Given the description of an element on the screen output the (x, y) to click on. 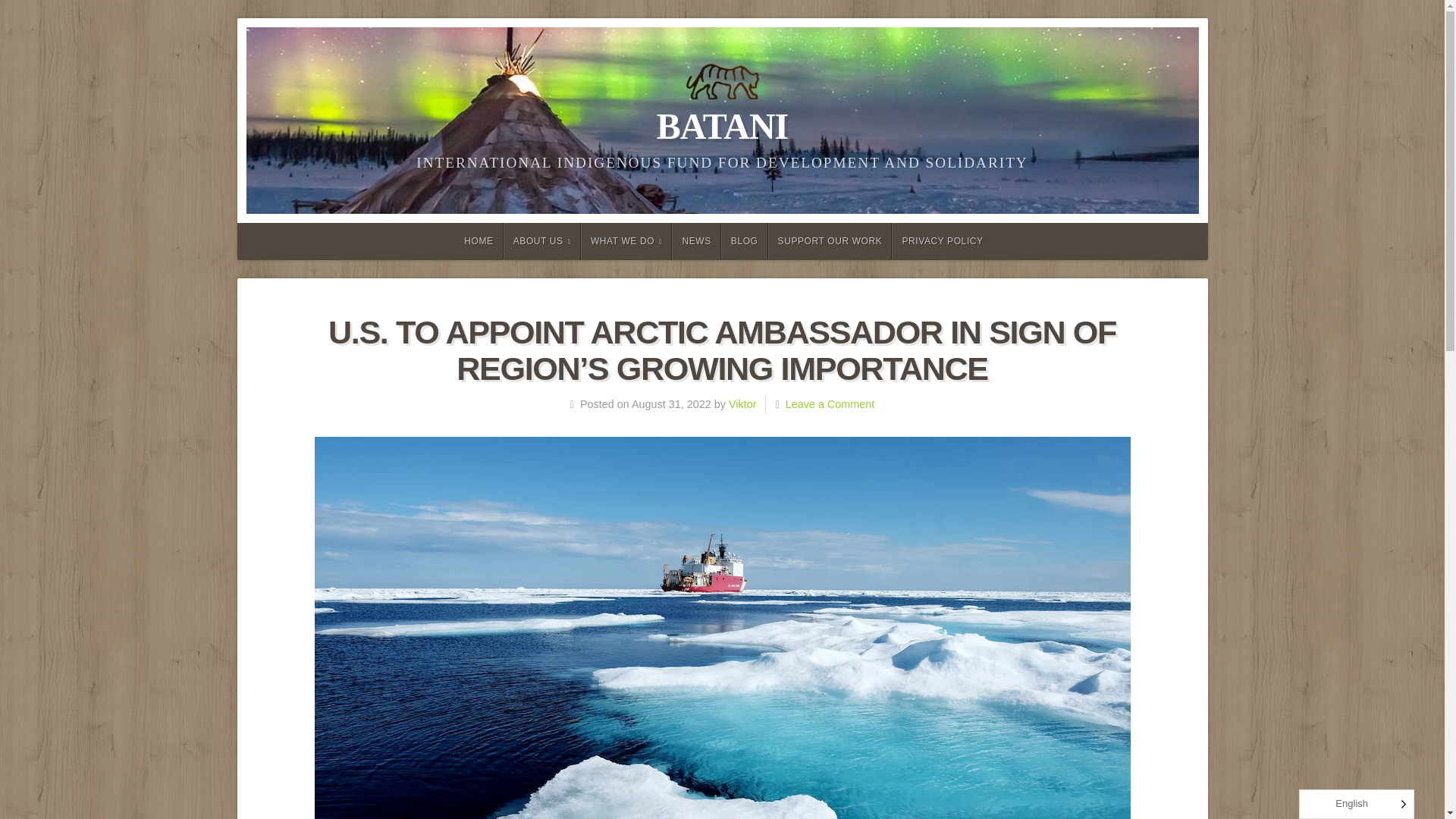
ABOUT US (541, 241)
BLOG (744, 240)
NEWS (695, 240)
HOME (476, 240)
WHAT WE DO (625, 241)
Viktor (743, 403)
BATANI (722, 126)
Posts by Viktor (743, 403)
PRIVACY POLICY (941, 240)
Leave a Comment (830, 403)
